Given the description of an element on the screen output the (x, y) to click on. 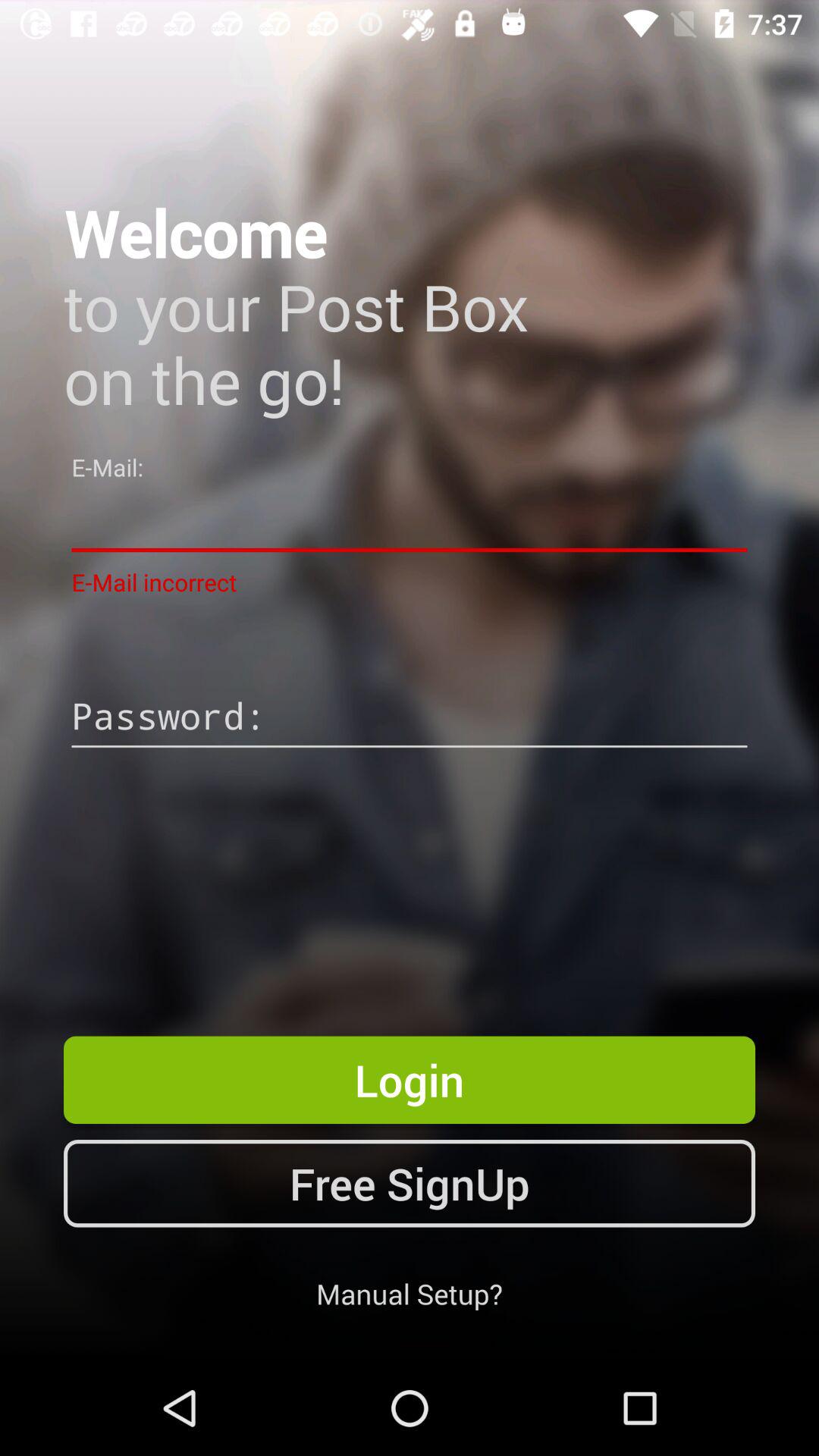
email field (409, 520)
